Given the description of an element on the screen output the (x, y) to click on. 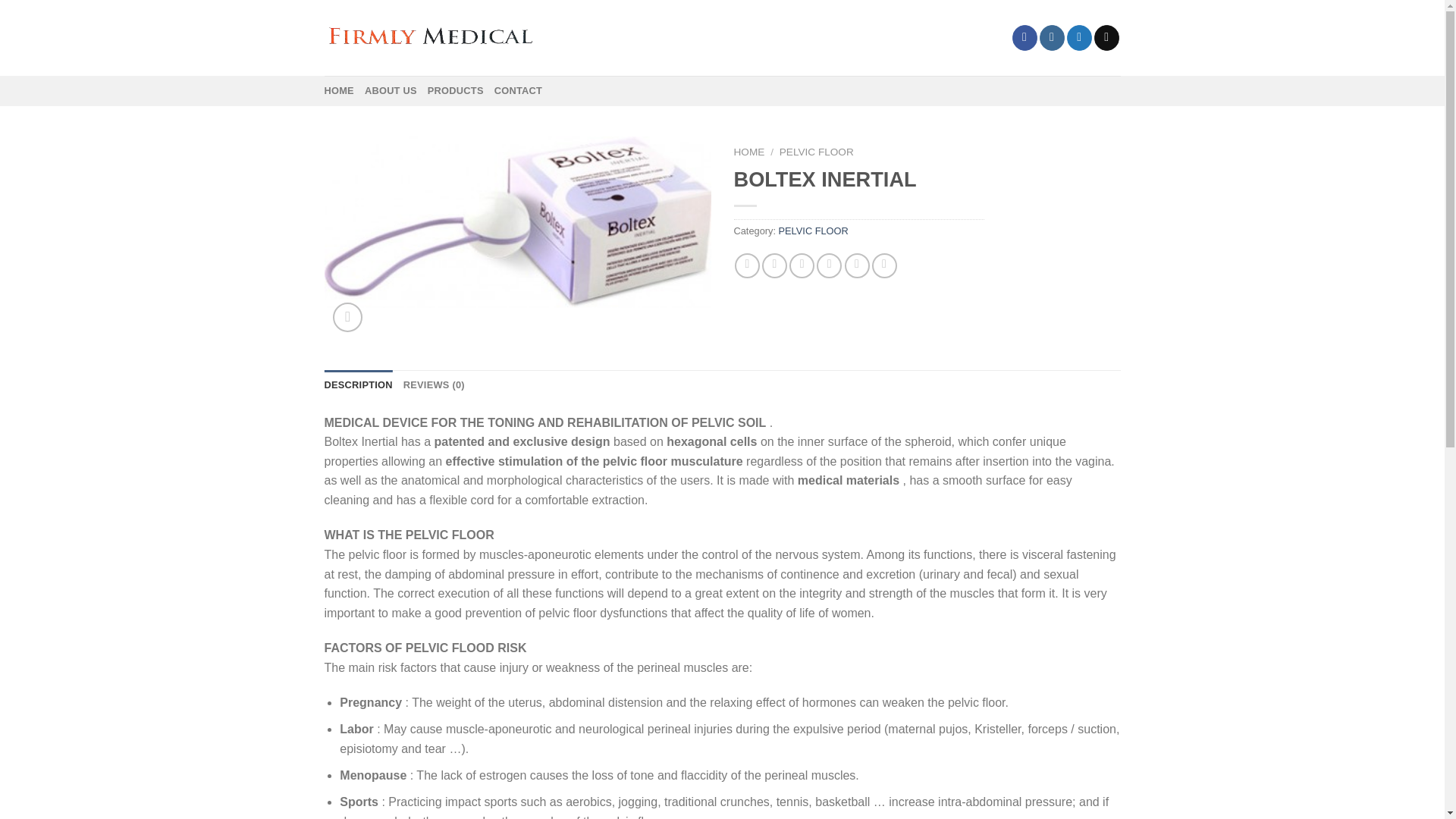
HOME (749, 152)
PELVIC FLOOR (813, 230)
CONTACT (518, 91)
HOME (338, 91)
tttt (517, 221)
PELVIC FLOOR (815, 152)
Firmly Medical - Firmly Medical (430, 37)
ABOUT US (390, 91)
PRODUCTS (455, 91)
